Given the description of an element on the screen output the (x, y) to click on. 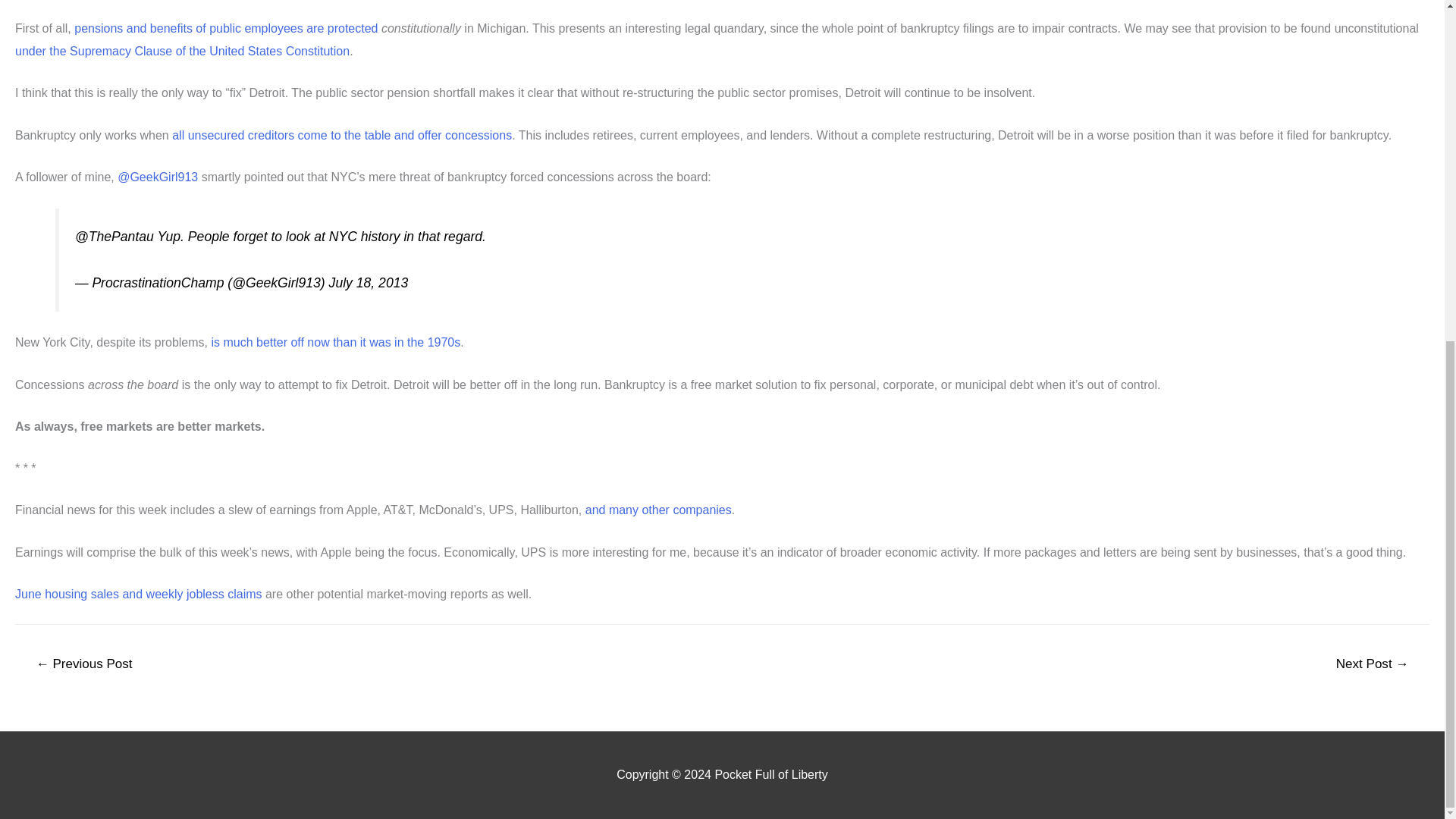
and many other companies (658, 509)
July 18, 2013 (369, 282)
June housing sales and weekly jobless claims (138, 594)
is much better off now than it was in the 1970s (335, 341)
pensions and benefits of public employees are protected (225, 28)
under the Supremacy Clause of the United States Constitution (181, 51)
